Given the description of an element on the screen output the (x, y) to click on. 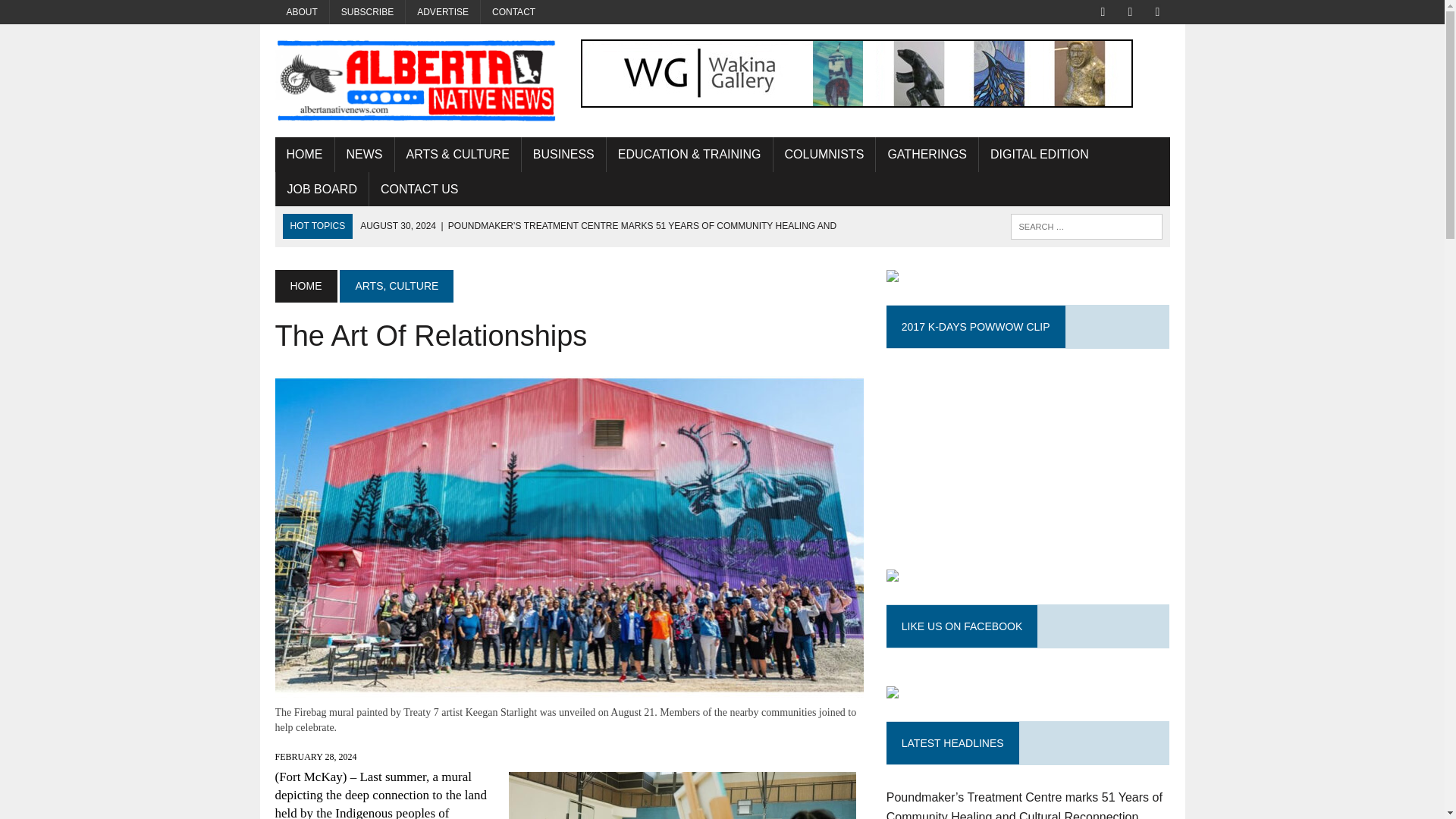
ABOUT (302, 12)
SUBSCRIBE (367, 12)
CONTACT (513, 12)
ADVERTISE (443, 12)
Alberta Native News (416, 80)
